Given the description of an element on the screen output the (x, y) to click on. 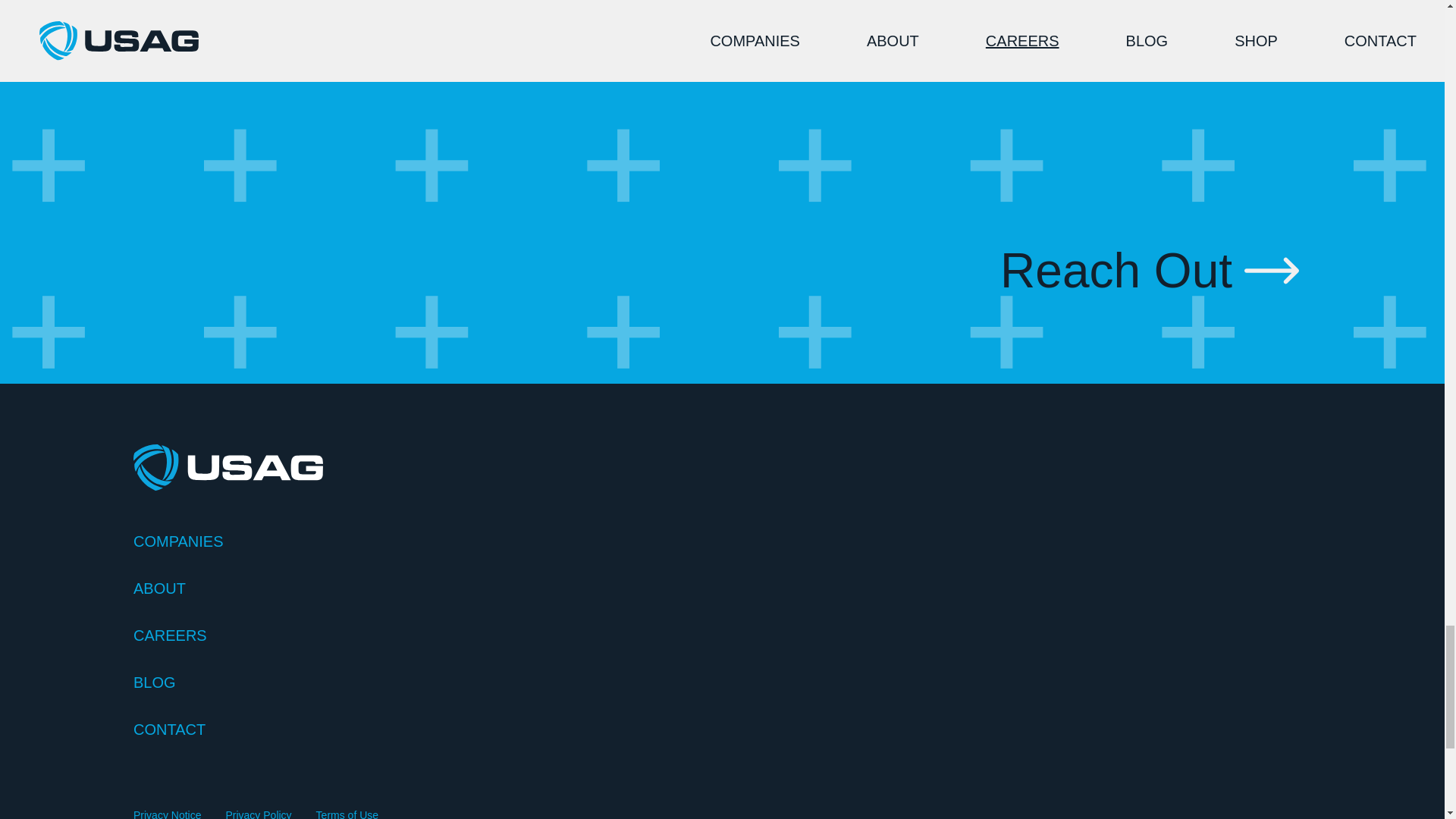
ABOUT (722, 588)
COMPANIES (722, 540)
CONTACT (722, 729)
Privacy Notice (166, 813)
CAREERS (722, 635)
Terms of Use (346, 813)
Reach Out (1149, 270)
BLOG (722, 681)
Privacy Policy (258, 813)
